Given the description of an element on the screen output the (x, y) to click on. 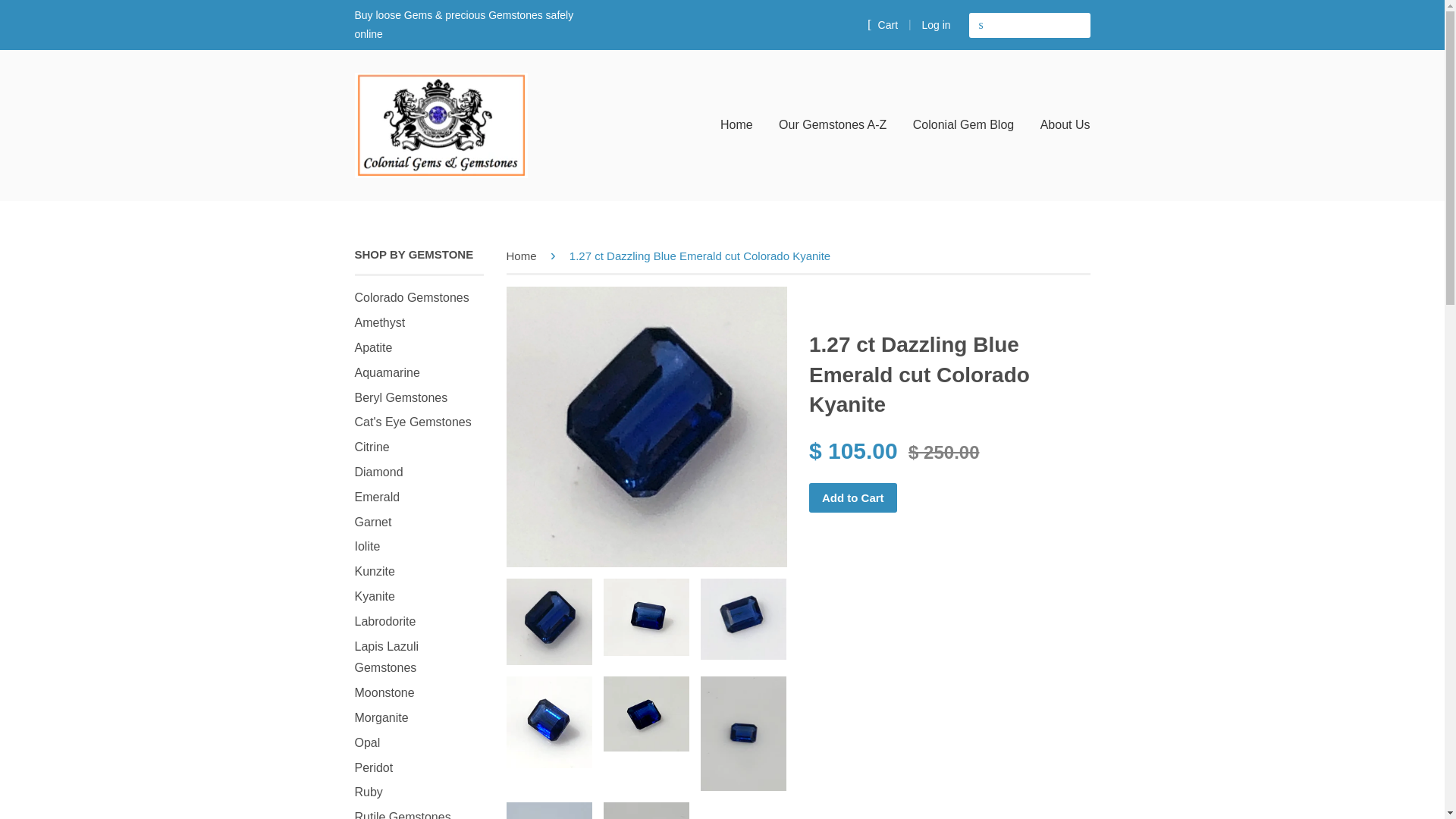
Back to the frontpage (523, 255)
Search (980, 25)
Log in (935, 24)
Cart (882, 24)
